Given the description of an element on the screen output the (x, y) to click on. 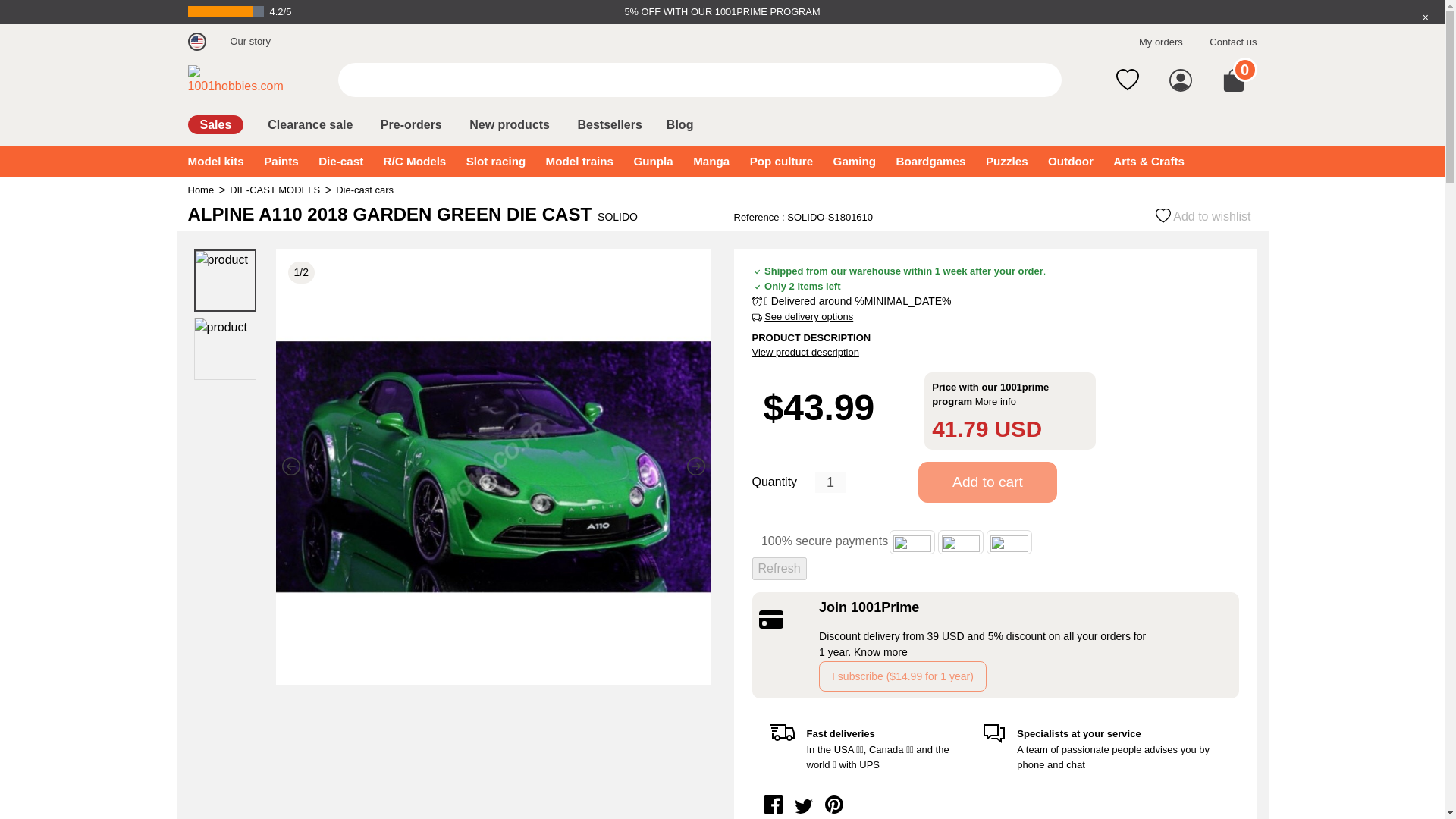
Model kits (215, 161)
pinterest (834, 799)
Blog (680, 124)
facebook (773, 799)
Contact us (1232, 42)
Clearance sale (309, 124)
Mes listes de souhaits (1123, 78)
Log in to your customer account (1177, 78)
Sales (215, 124)
Bestsellers (609, 124)
Mes listes de souhaits (1123, 78)
New products (509, 124)
Our story (250, 41)
